Given the description of an element on the screen output the (x, y) to click on. 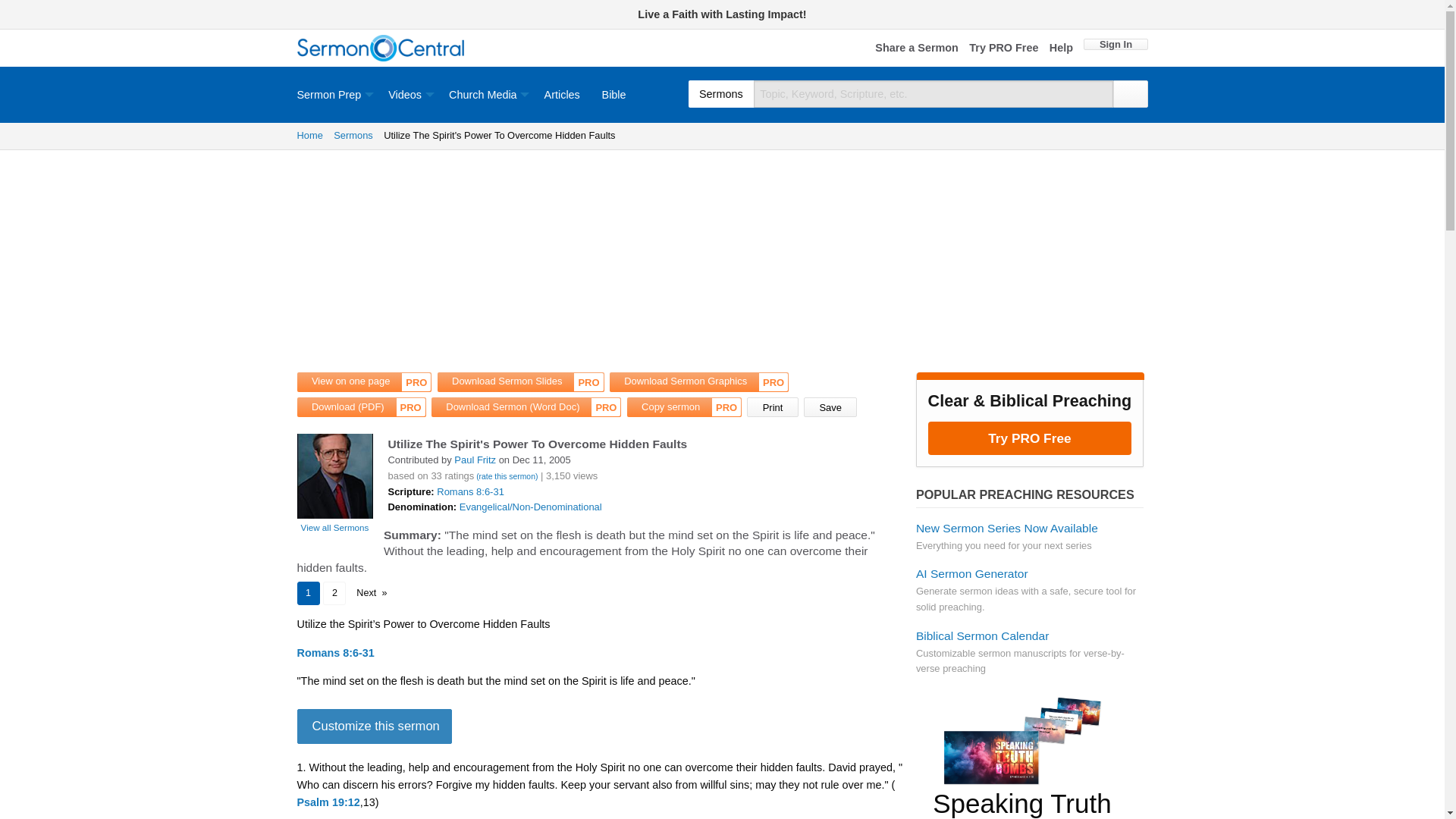
Share a Sermon (916, 48)
Try PRO Free (1003, 48)
Videos (407, 94)
SermonCentral.com (380, 48)
Sign In (1115, 43)
Sermon Prep (337, 94)
Church Media (486, 94)
Bible (614, 94)
Articles (561, 94)
